Given the description of an element on the screen output the (x, y) to click on. 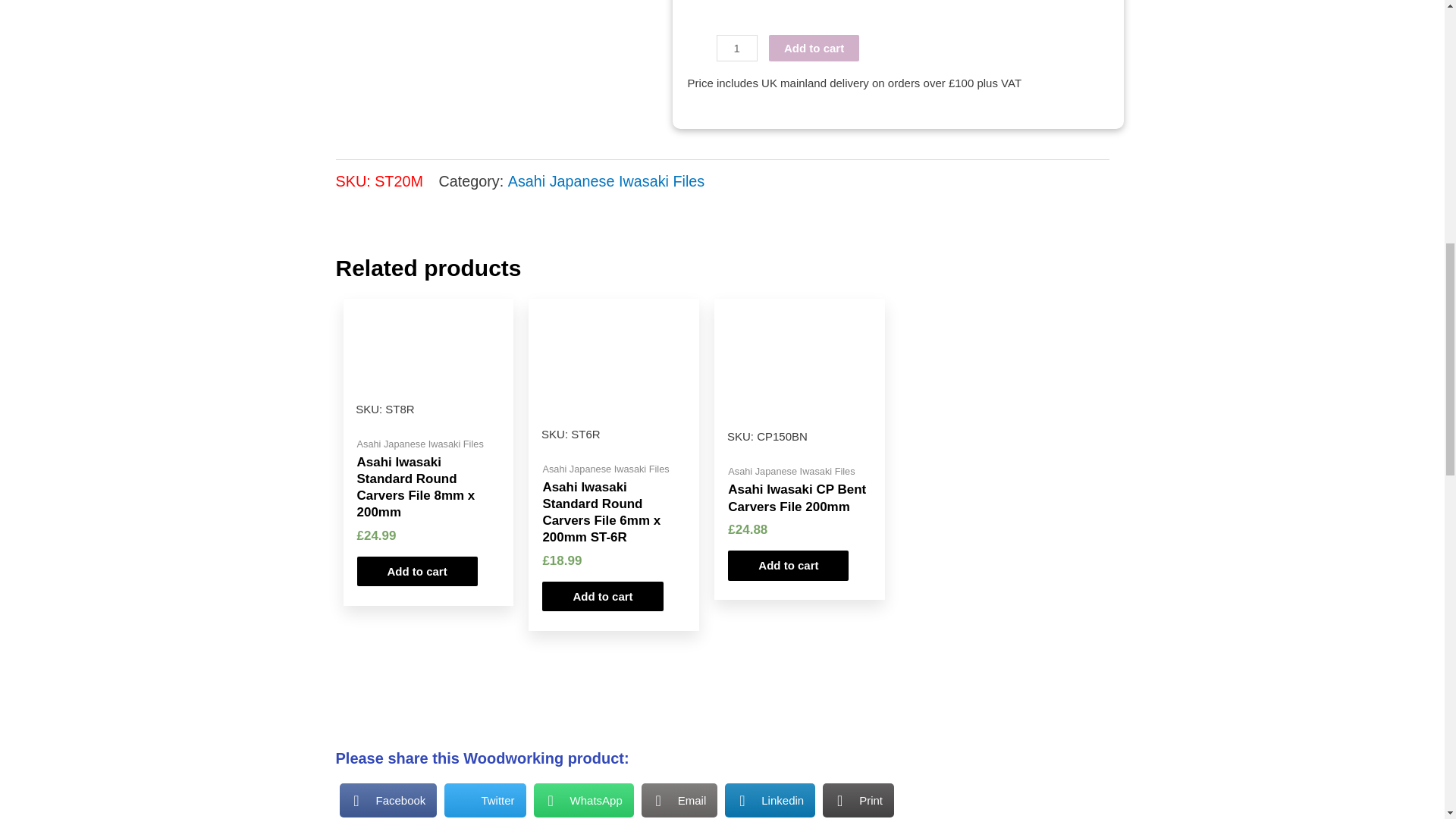
1 (736, 48)
